Given the description of an element on the screen output the (x, y) to click on. 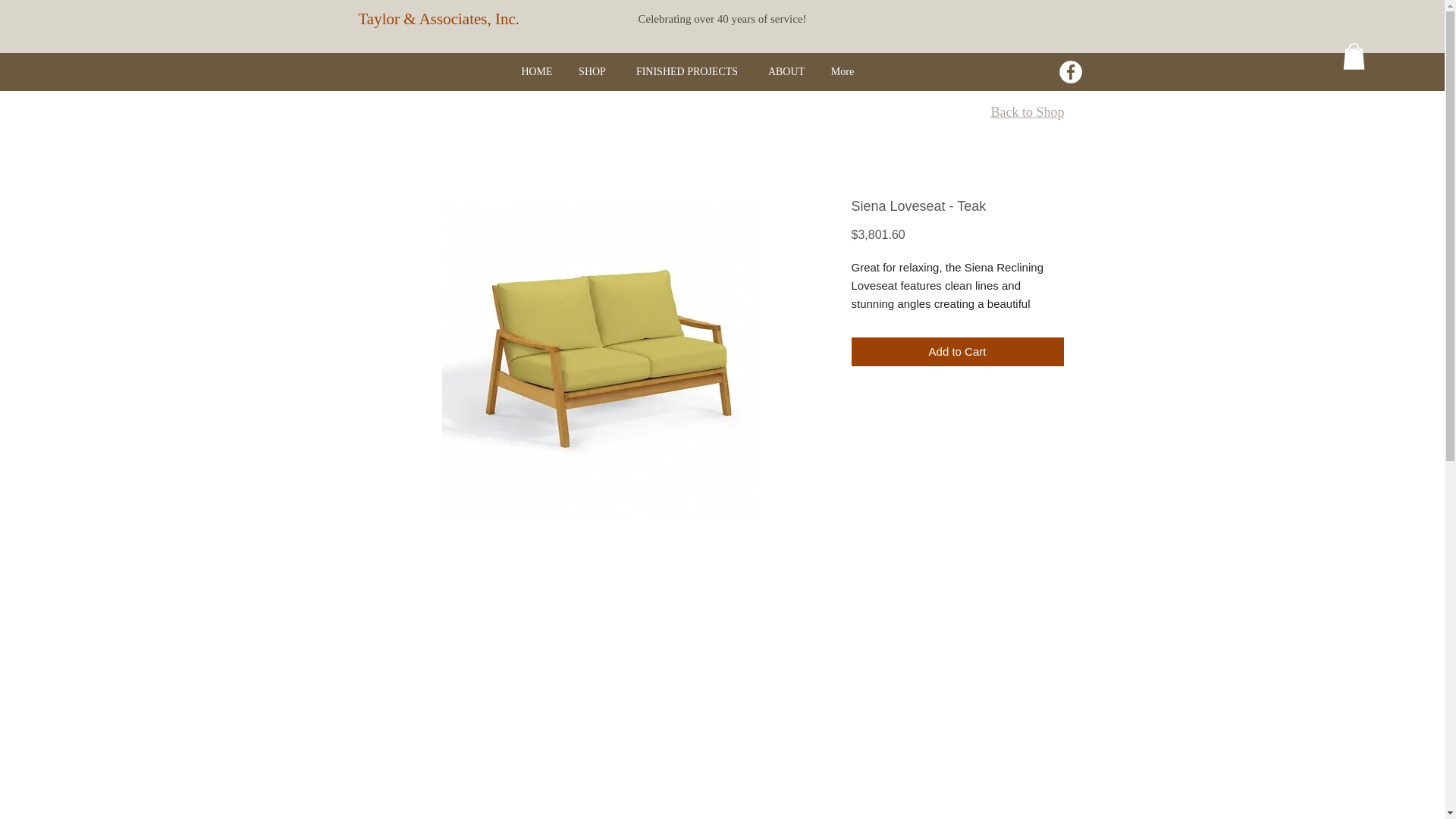
ABOUT (786, 71)
HOME (536, 71)
Add to Cart (956, 351)
FINISHED PROJECTS (686, 71)
Back to Shop (1027, 111)
SHOP (593, 71)
Celebrating over 40 years of service! (722, 19)
